Given the description of an element on the screen output the (x, y) to click on. 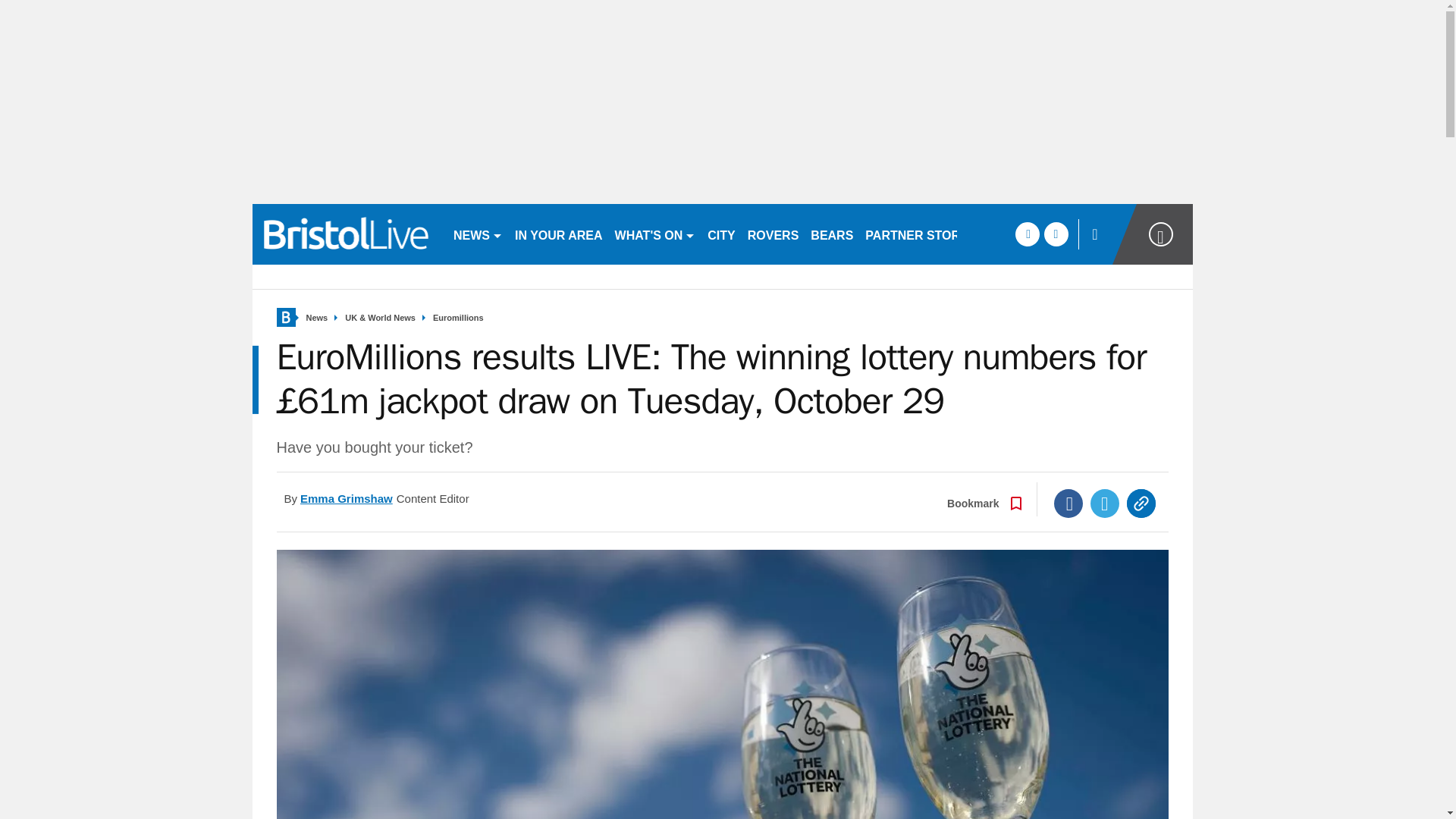
Facebook (1068, 502)
BEARS (832, 233)
IN YOUR AREA (558, 233)
ROVERS (773, 233)
facebook (1026, 233)
NEWS (477, 233)
WHAT'S ON (654, 233)
bristolpost (345, 233)
PARTNER STORIES (922, 233)
Twitter (1104, 502)
twitter (1055, 233)
